Given the description of an element on the screen output the (x, y) to click on. 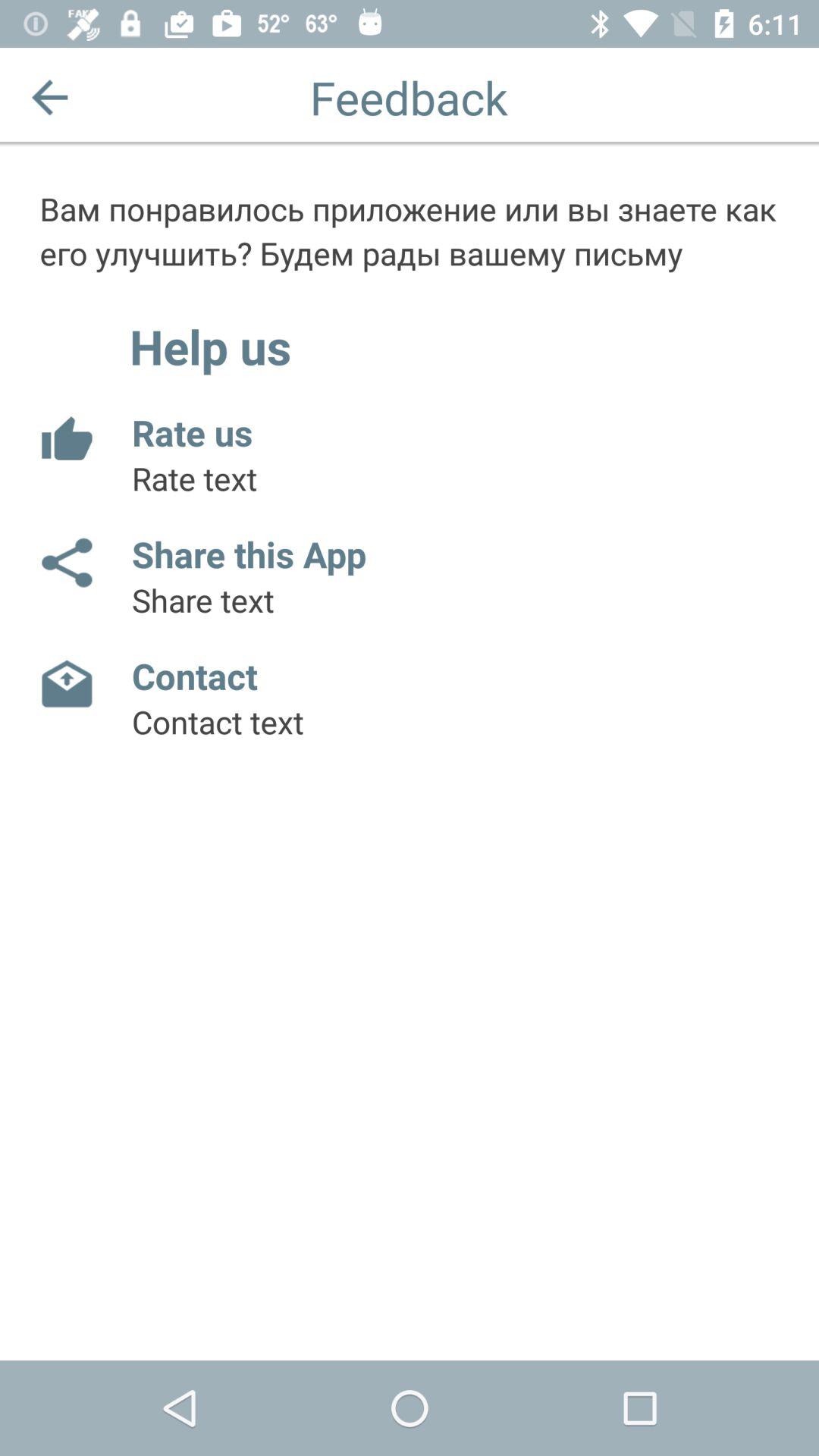
go back (49, 97)
